Given the description of an element on the screen output the (x, y) to click on. 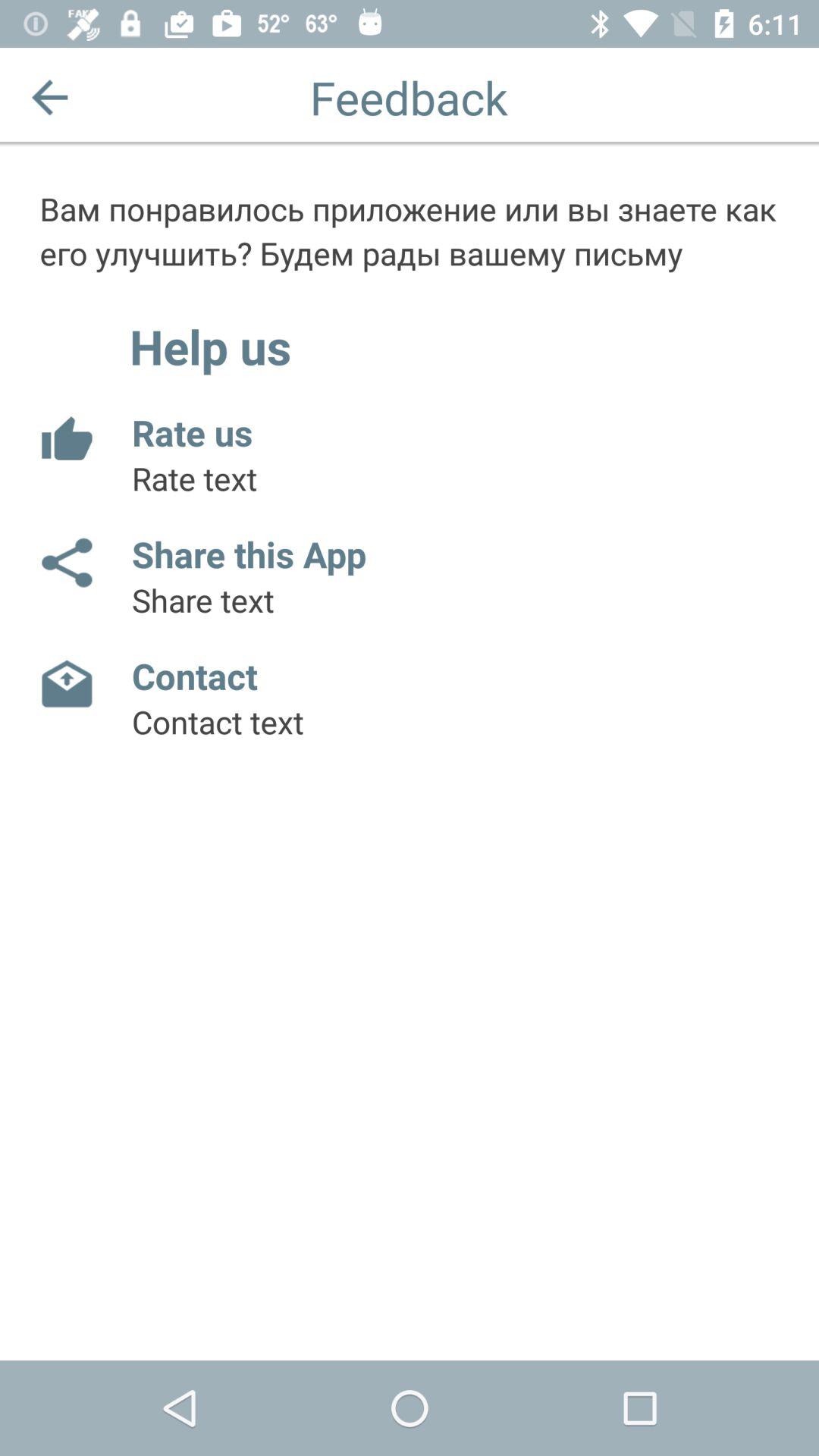
go back (49, 97)
